Given the description of an element on the screen output the (x, y) to click on. 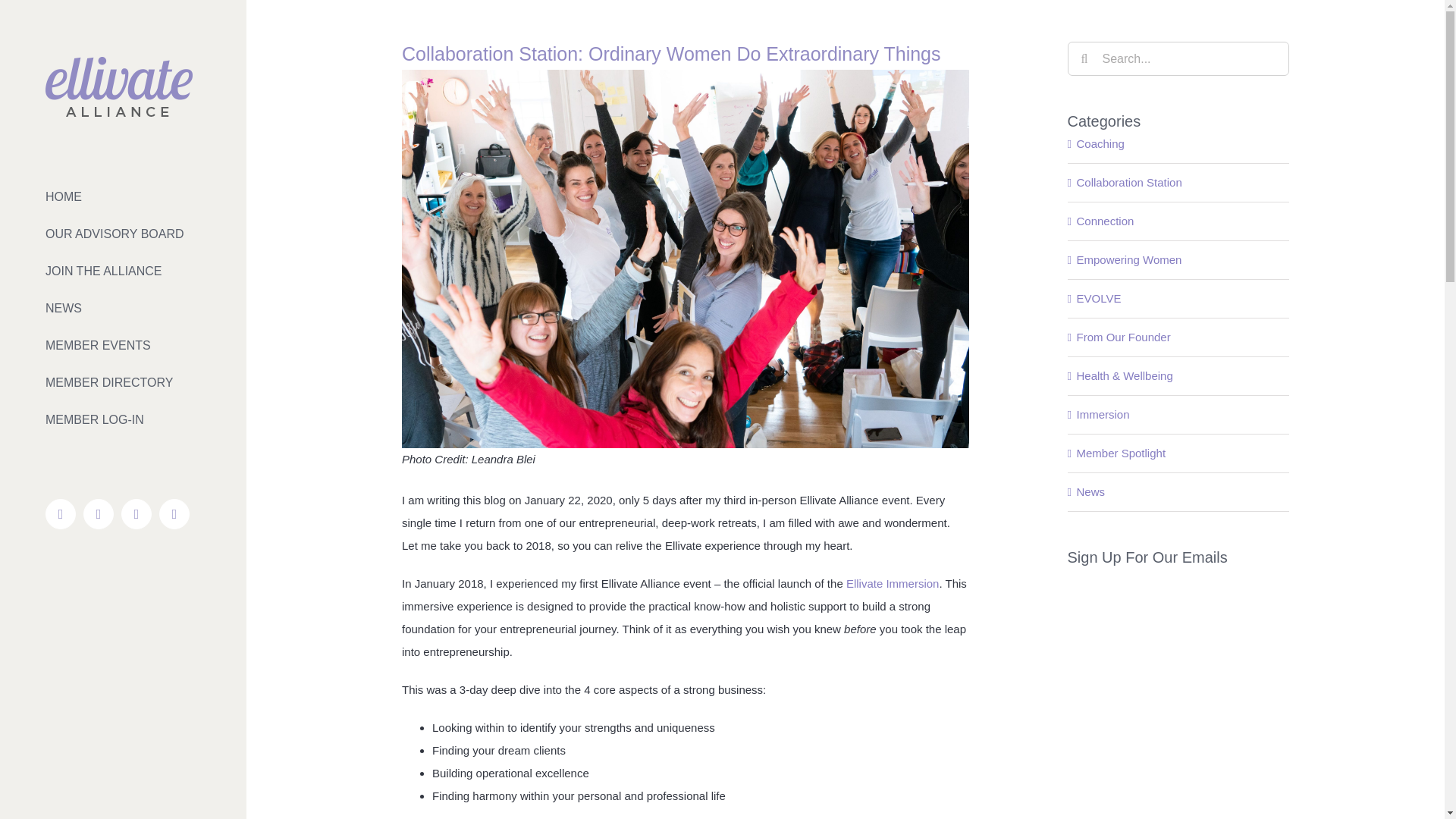
JOIN THE ALLIANCE (123, 270)
HOME (123, 196)
Email (173, 513)
Collaboration Station (1179, 182)
X (97, 513)
MEMBER LOG-IN (123, 419)
Facebook (60, 513)
X (97, 513)
MEMBER EVENTS (123, 344)
From Our Founder (1179, 336)
Empowering Women (1179, 259)
Ellivate Immersion (892, 583)
LinkedIn (135, 513)
OUR ADVISORY BOARD (123, 233)
